Given the description of an element on the screen output the (x, y) to click on. 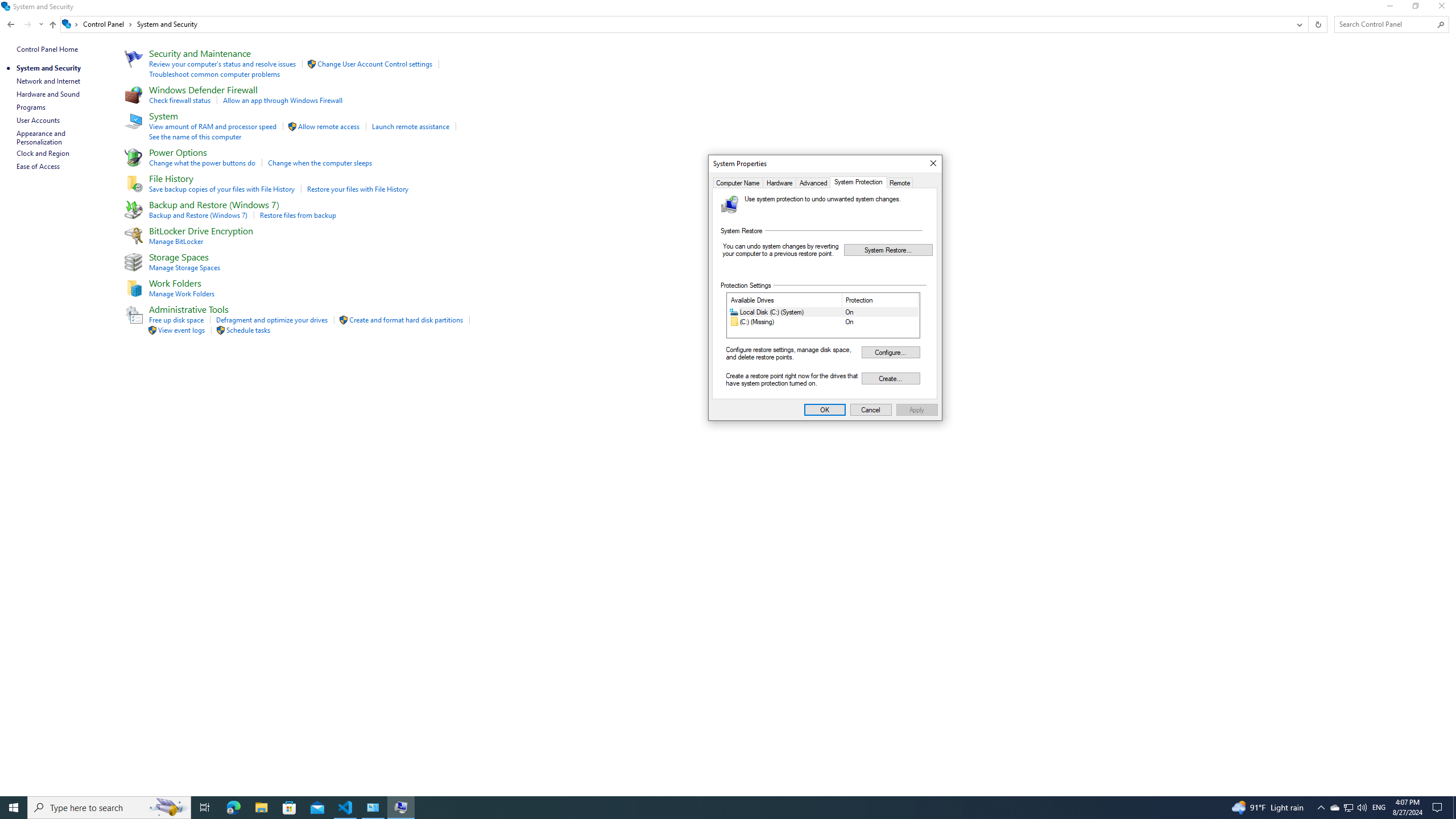
Notification Chevron (1320, 807)
Configure... (890, 351)
Action Center, No new notifications (1439, 807)
Control Panel - 1 running window (373, 807)
(C:) (Missing) (823, 321)
